Given the description of an element on the screen output the (x, y) to click on. 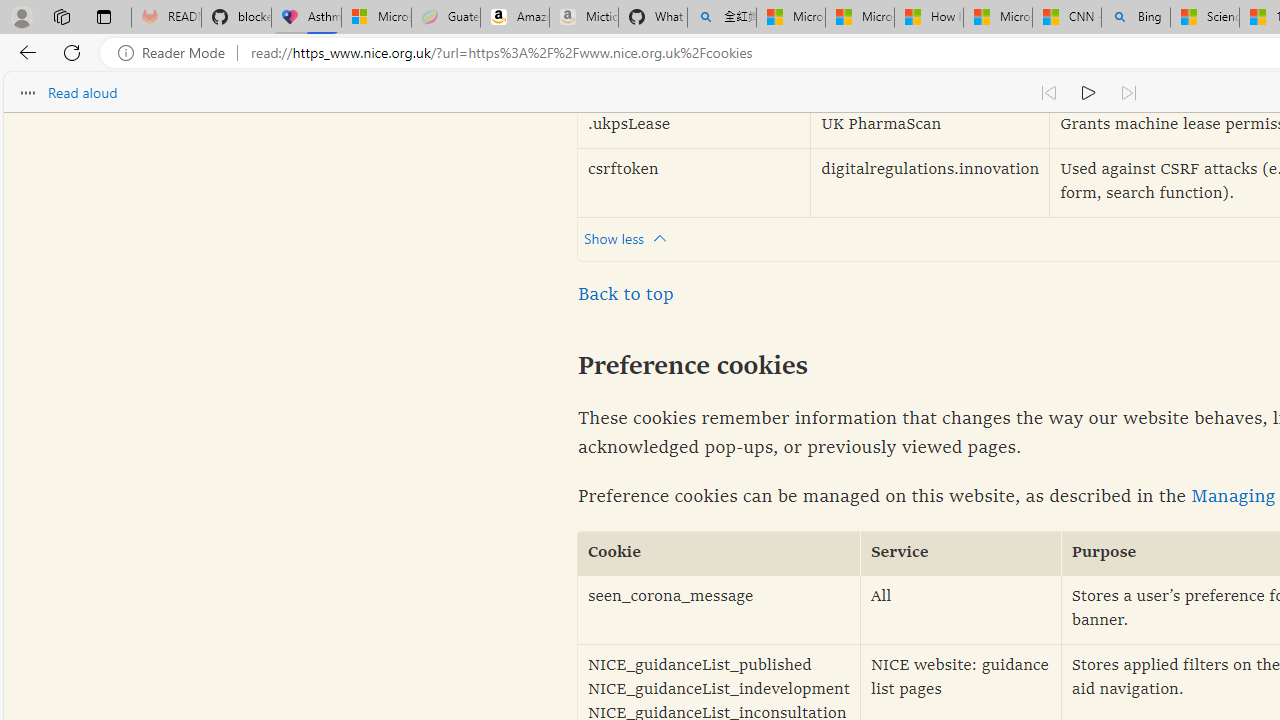
Class: __reading_mode_collapse_button_chevron_up (660, 238)
.ukpsLease (694, 125)
